Given the description of an element on the screen output the (x, y) to click on. 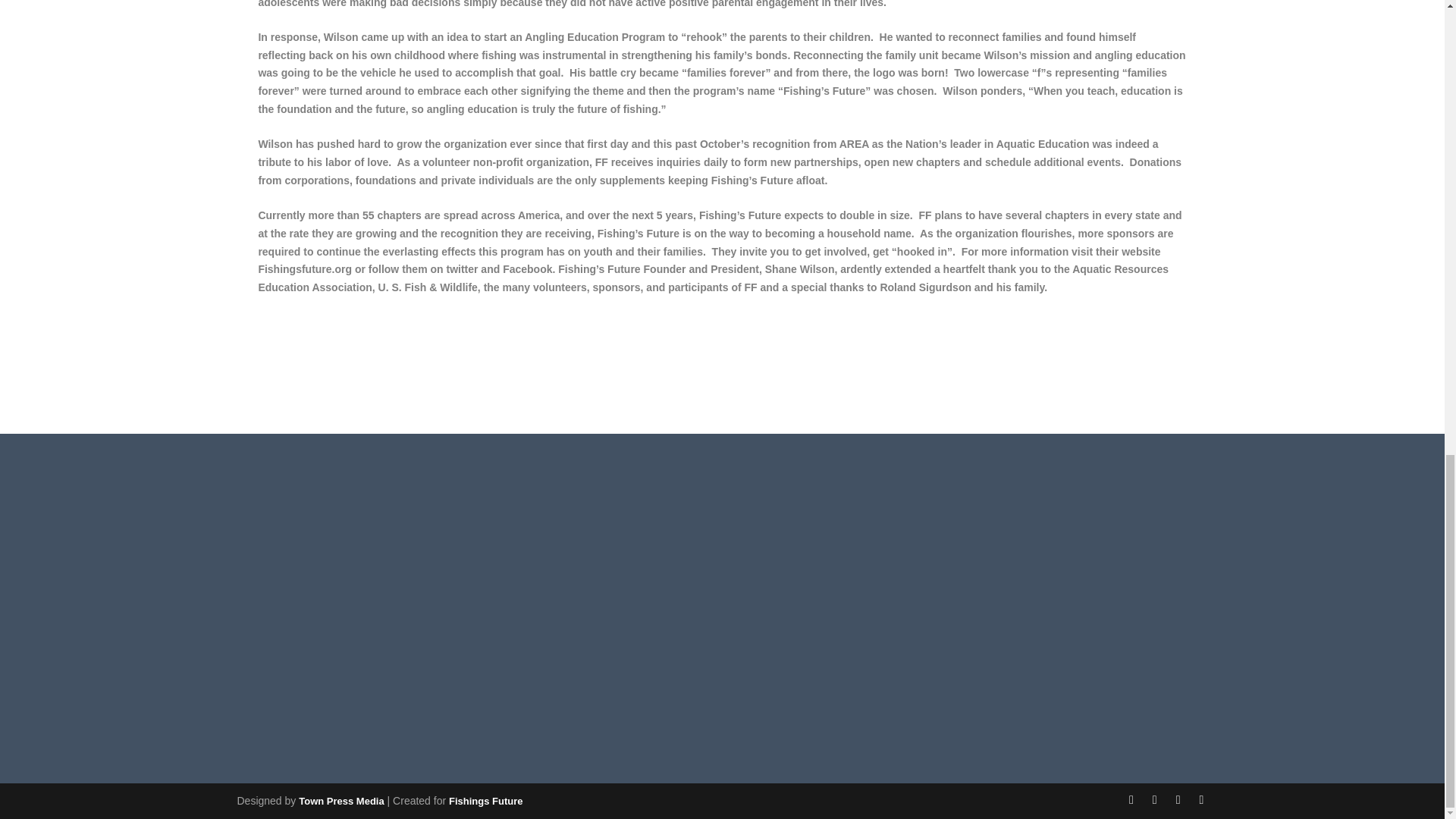
Fishings Future (485, 800)
Amazing Web Design (341, 800)
Town Press Media (341, 800)
